Given the description of an element on the screen output the (x, y) to click on. 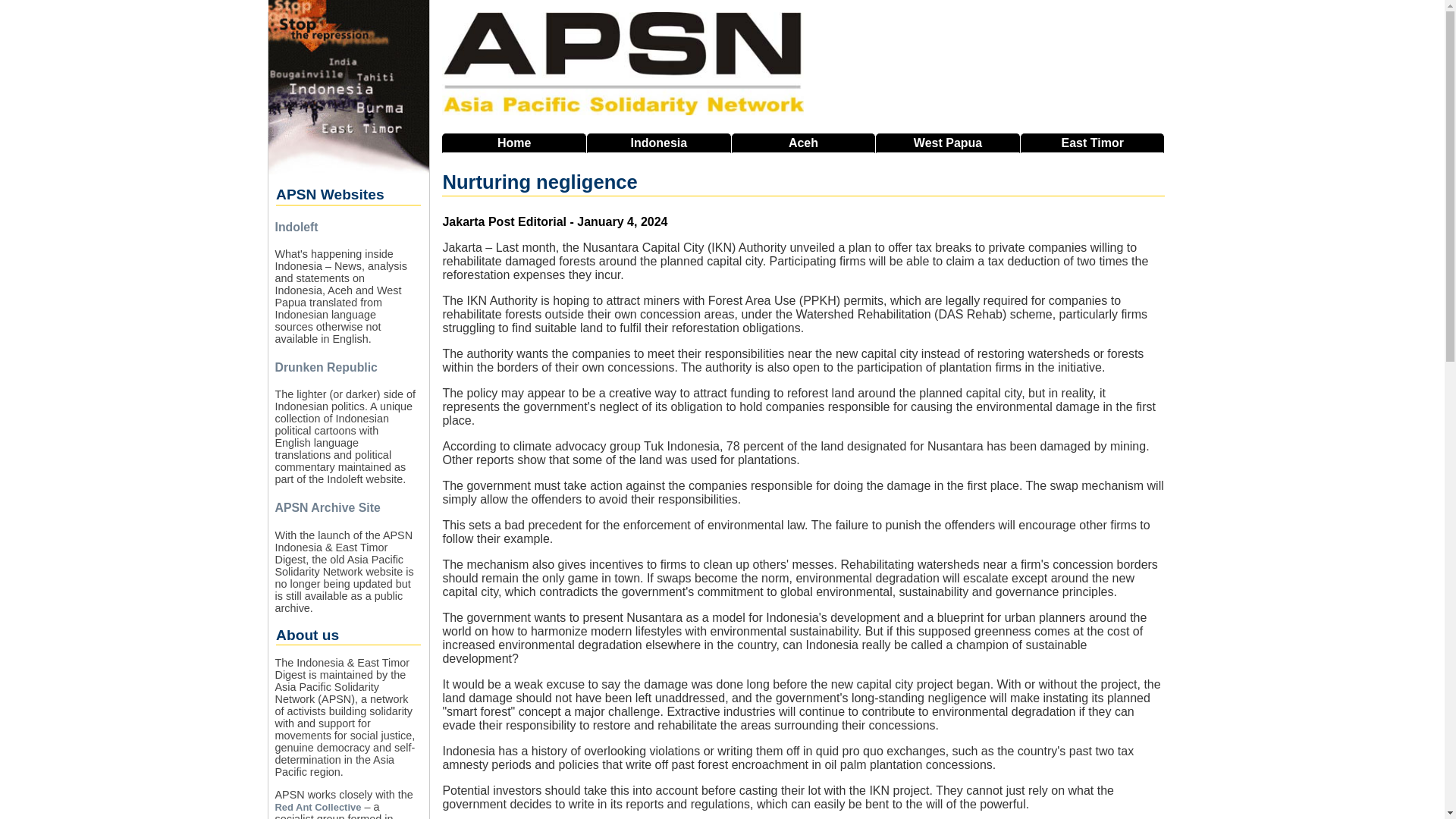
East Timor (1092, 143)
West Papua (948, 143)
Aceh (804, 143)
Indonesia (658, 143)
Drunken Republic (326, 367)
Indoleft (296, 226)
Home (514, 143)
